Given the description of an element on the screen output the (x, y) to click on. 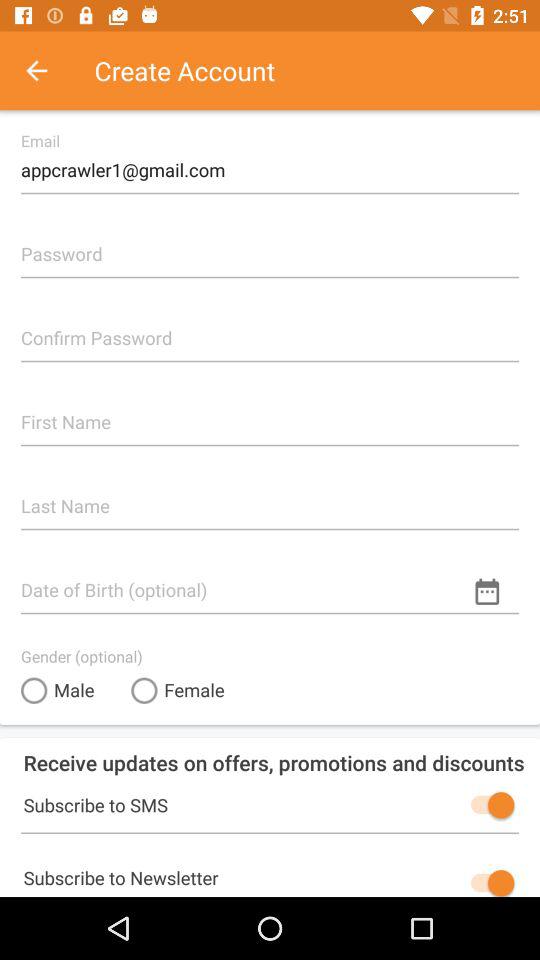
newsletter subscribe button (487, 881)
